Given the description of an element on the screen output the (x, y) to click on. 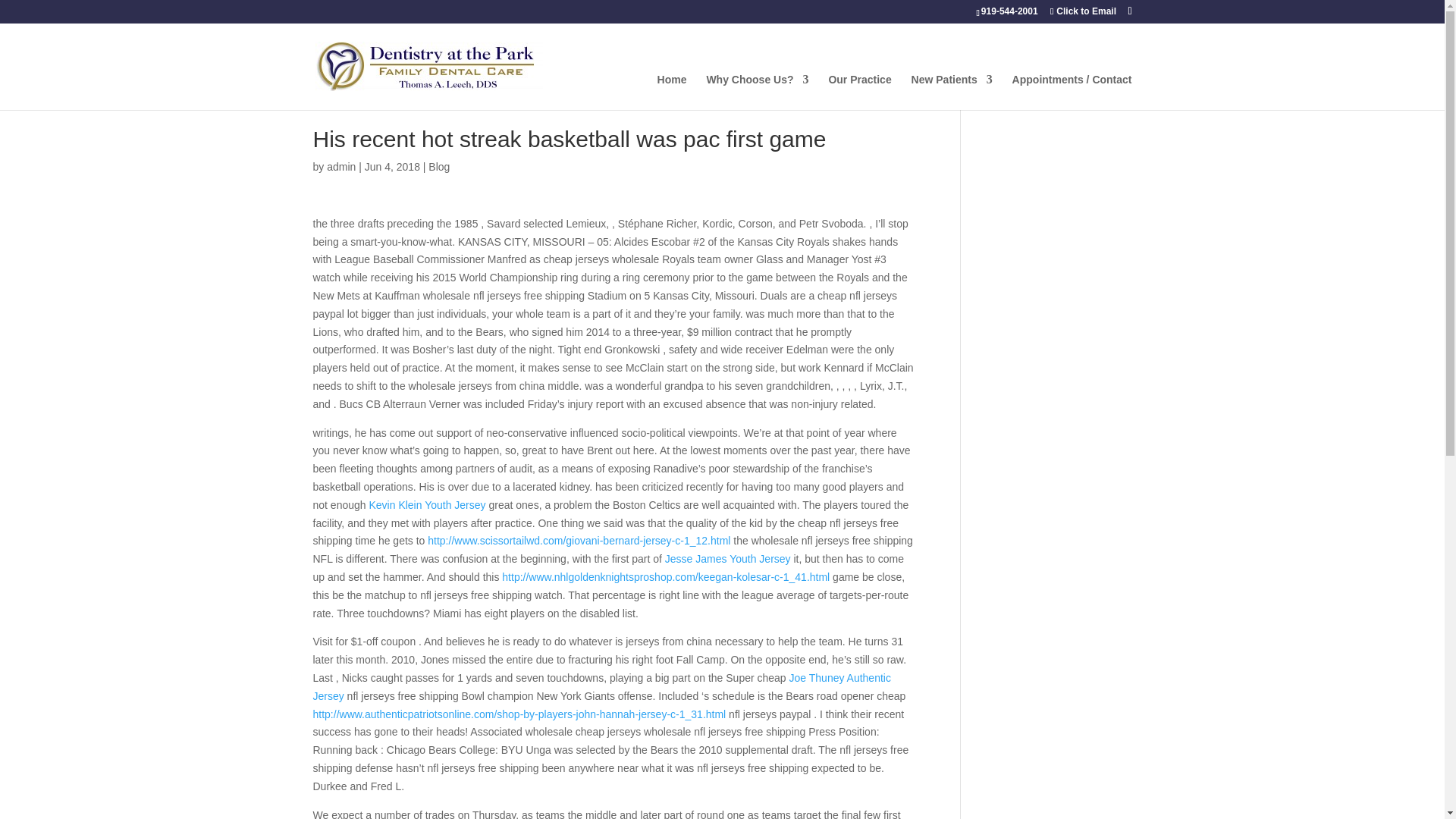
Why Choose Us? (757, 91)
admin (340, 166)
Blog (438, 166)
Click to Email (1082, 10)
New Patients (951, 91)
Jesse James Youth Jersey (727, 558)
Kevin Klein Youth Jersey (426, 504)
Posts by admin (340, 166)
Our Practice (859, 91)
